Given the description of an element on the screen output the (x, y) to click on. 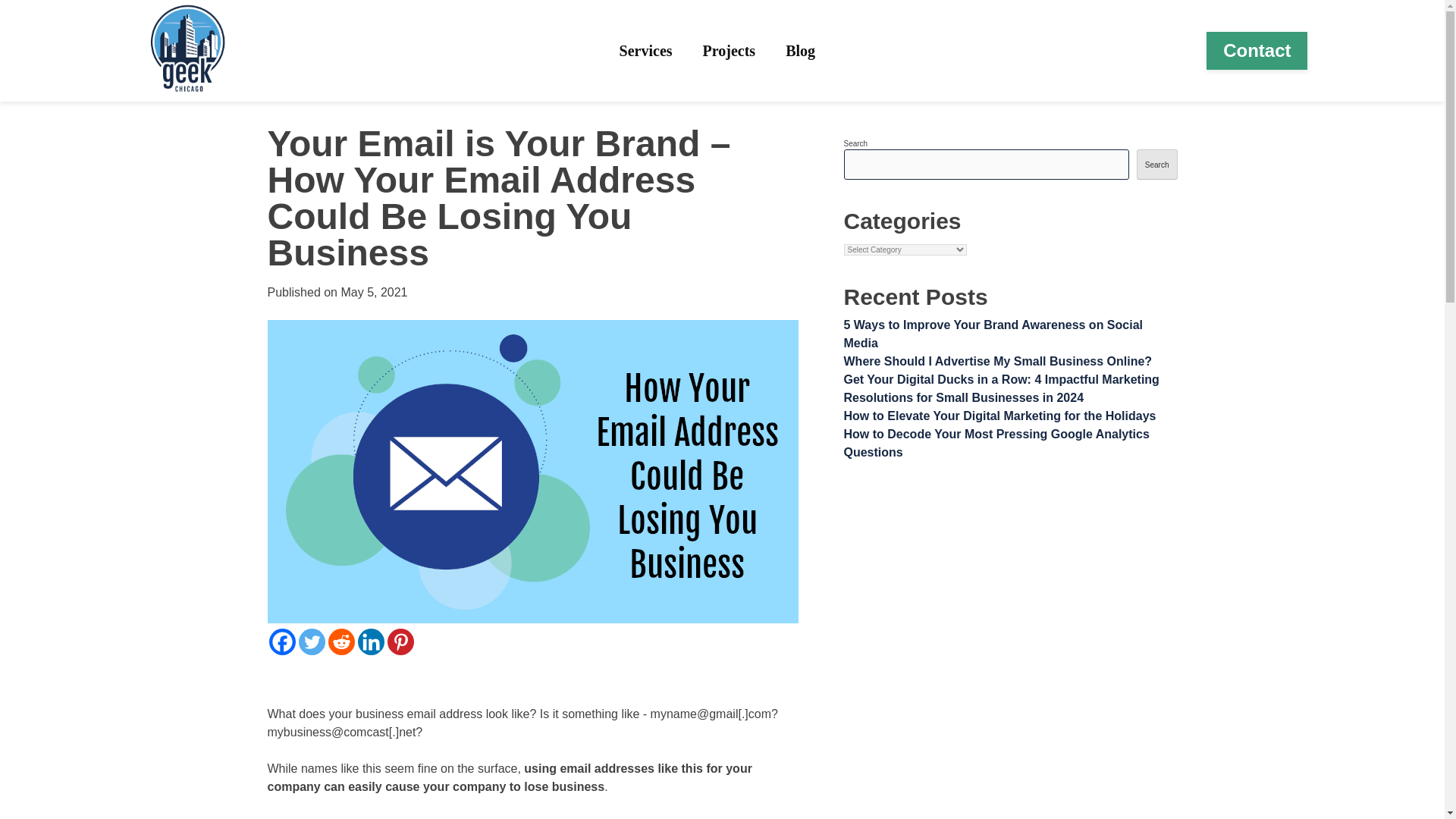
Search (1157, 164)
Facebook (281, 641)
Linkedin (371, 641)
Pinterest (400, 641)
Twitter (311, 641)
Services (646, 50)
Where Should I Advertise My Small Business Online? (997, 360)
How to Elevate Your Digital Marketing for the Holidays (999, 415)
Blog (800, 50)
Reddit (340, 641)
How to Decode Your Most Pressing Google Analytics Questions (995, 442)
5 Ways to Improve Your Brand Awareness on Social Media (992, 333)
Projects (729, 50)
Contact (1257, 50)
